Given the description of an element on the screen output the (x, y) to click on. 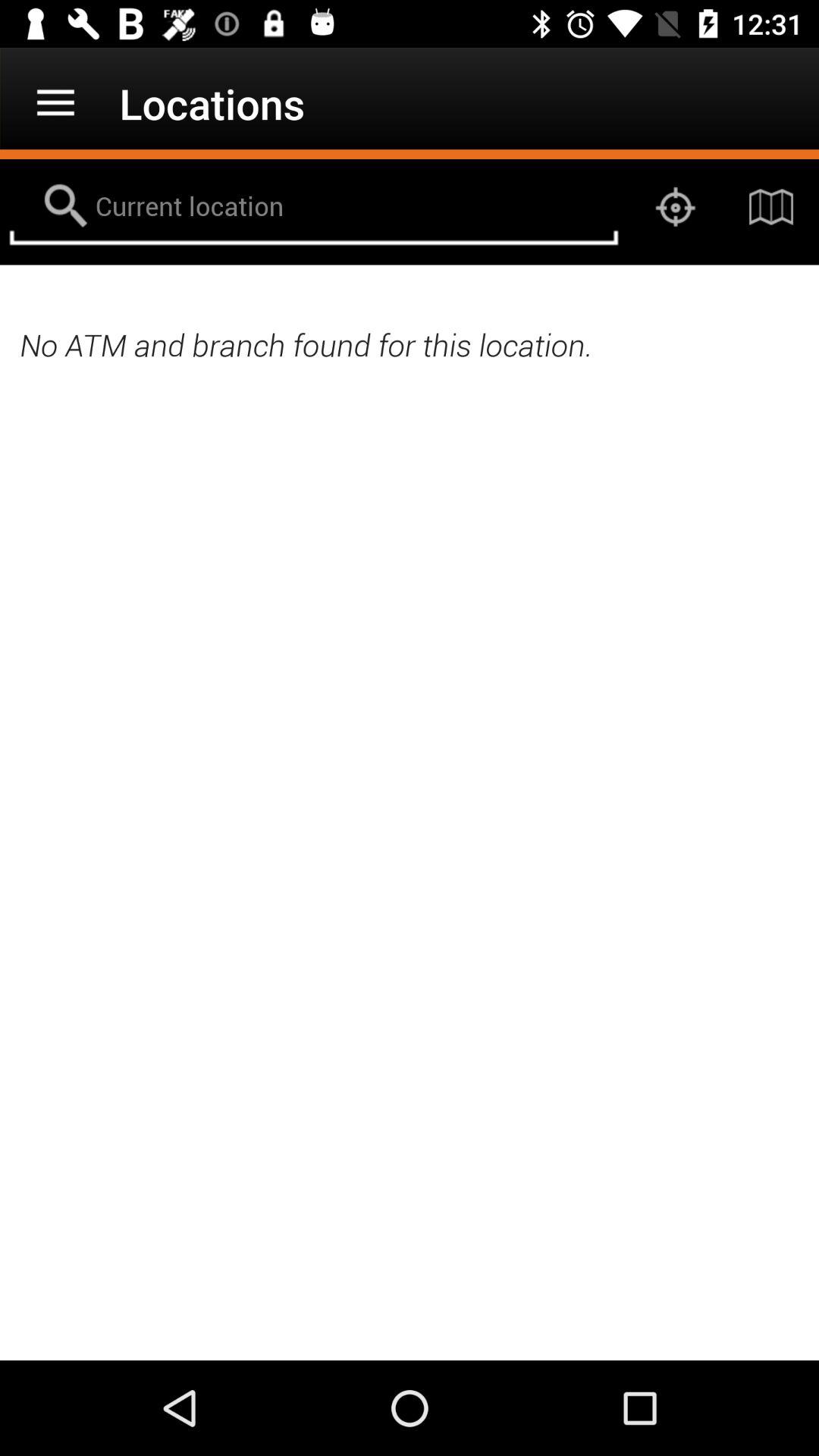
open icon above the no atm and item (771, 206)
